Given the description of an element on the screen output the (x, y) to click on. 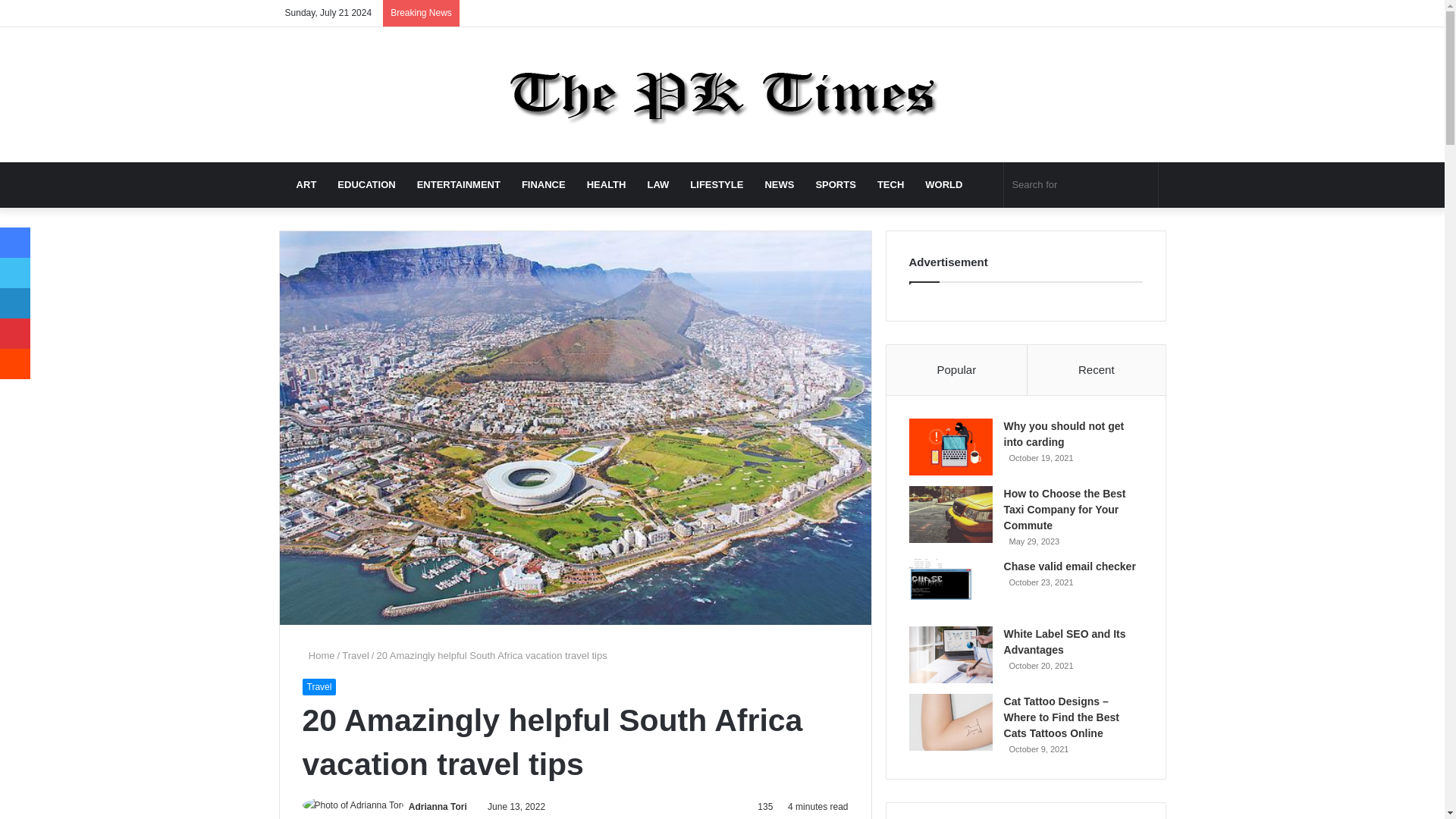
EDUCATION (366, 185)
SPORTS (835, 185)
TECH (890, 185)
Home (317, 655)
Adrianna Tori (438, 806)
ART (306, 185)
Travel (318, 686)
Travel (355, 655)
NEWS (779, 185)
ENTERTAINMENT (458, 185)
LIFESTYLE (716, 185)
FINANCE (543, 185)
LAW (657, 185)
HEALTH (606, 185)
Adrianna Tori (438, 806)
